Given the description of an element on the screen output the (x, y) to click on. 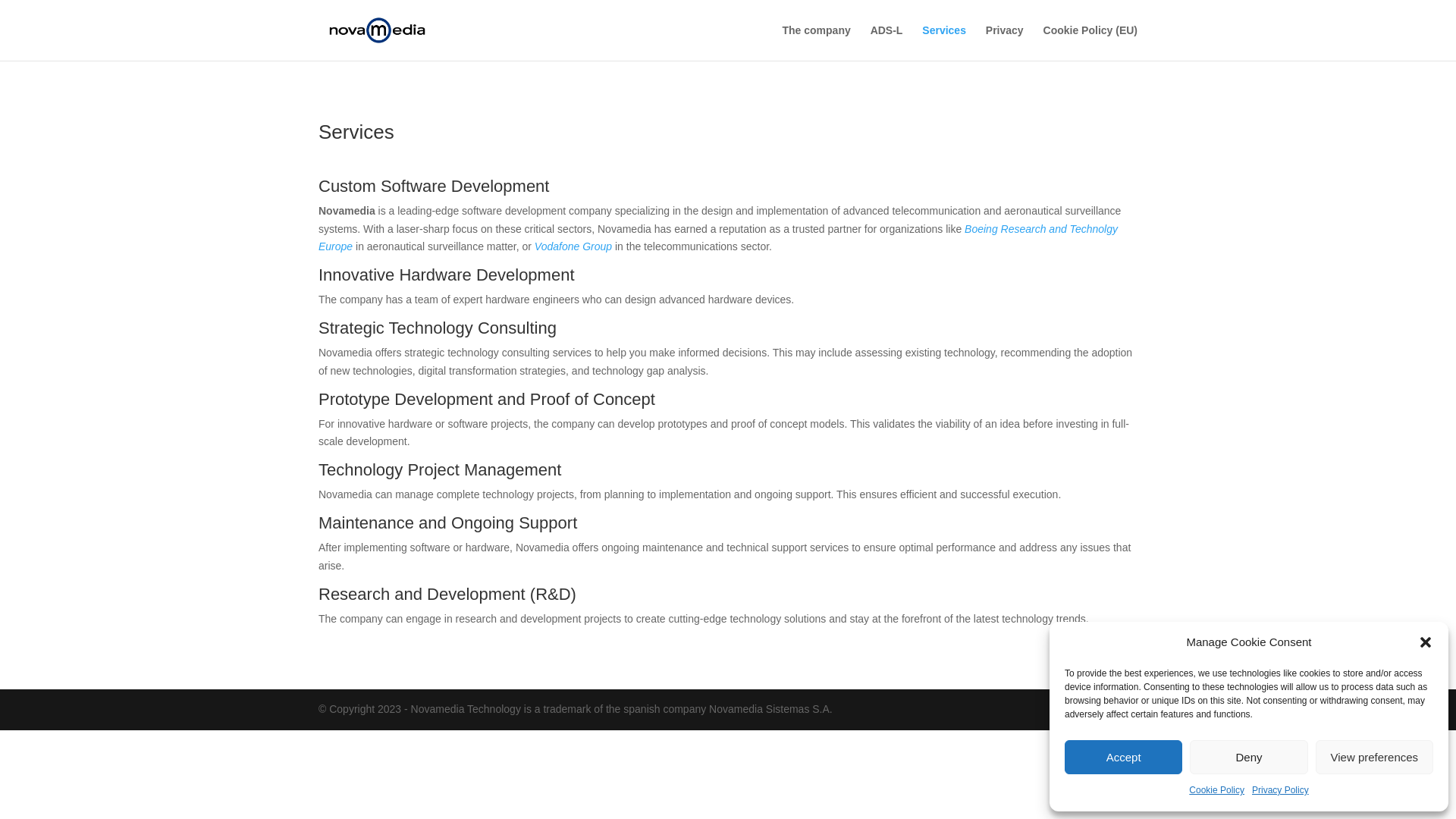
ADS-L (886, 42)
Privacy (1004, 42)
Vodafone Group (572, 246)
The company (816, 42)
Services (943, 42)
Boeing Research and Technolgy Europe (718, 237)
